Given the description of an element on the screen output the (x, y) to click on. 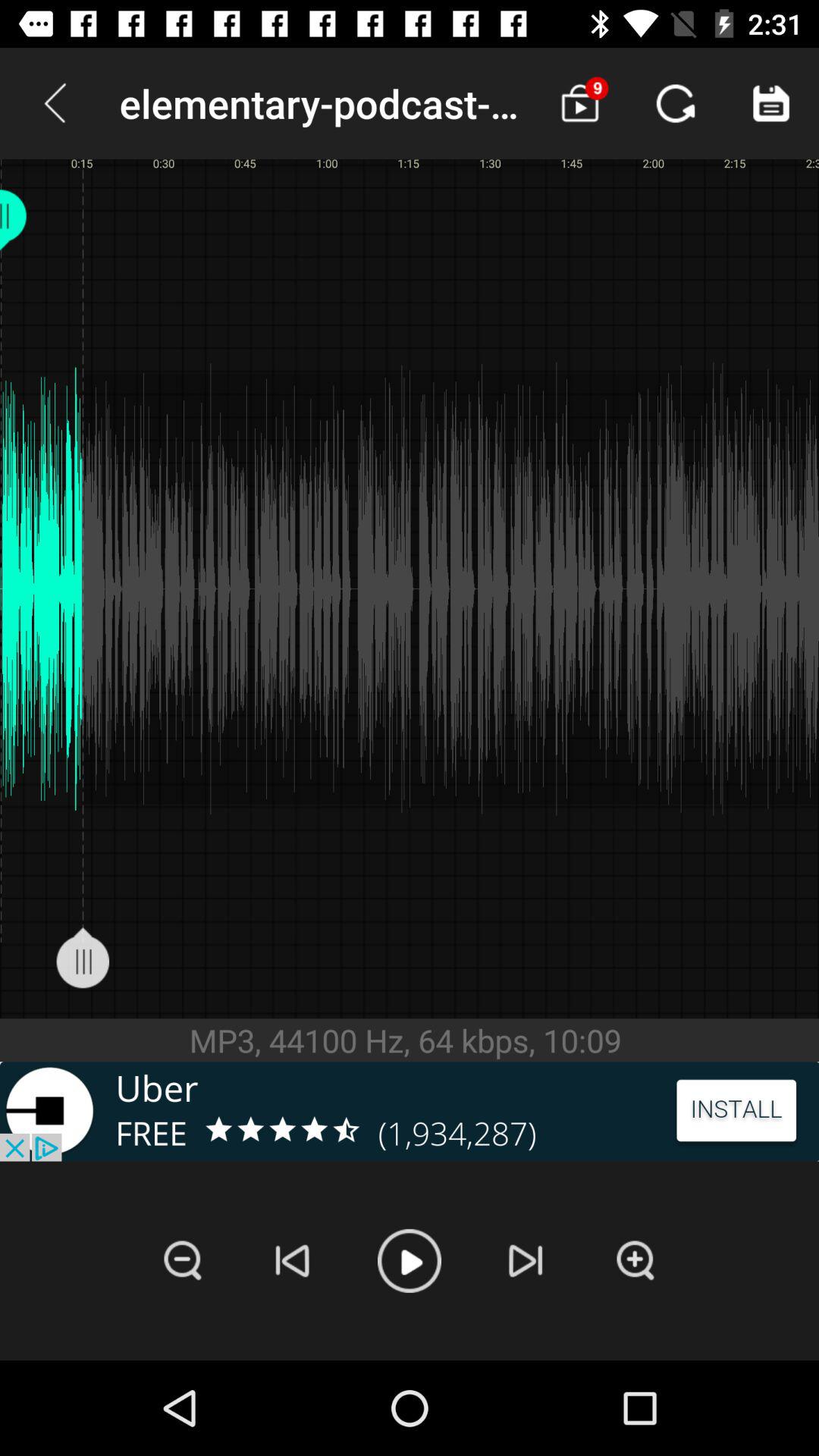
play audio (409, 1260)
